Given the description of an element on the screen output the (x, y) to click on. 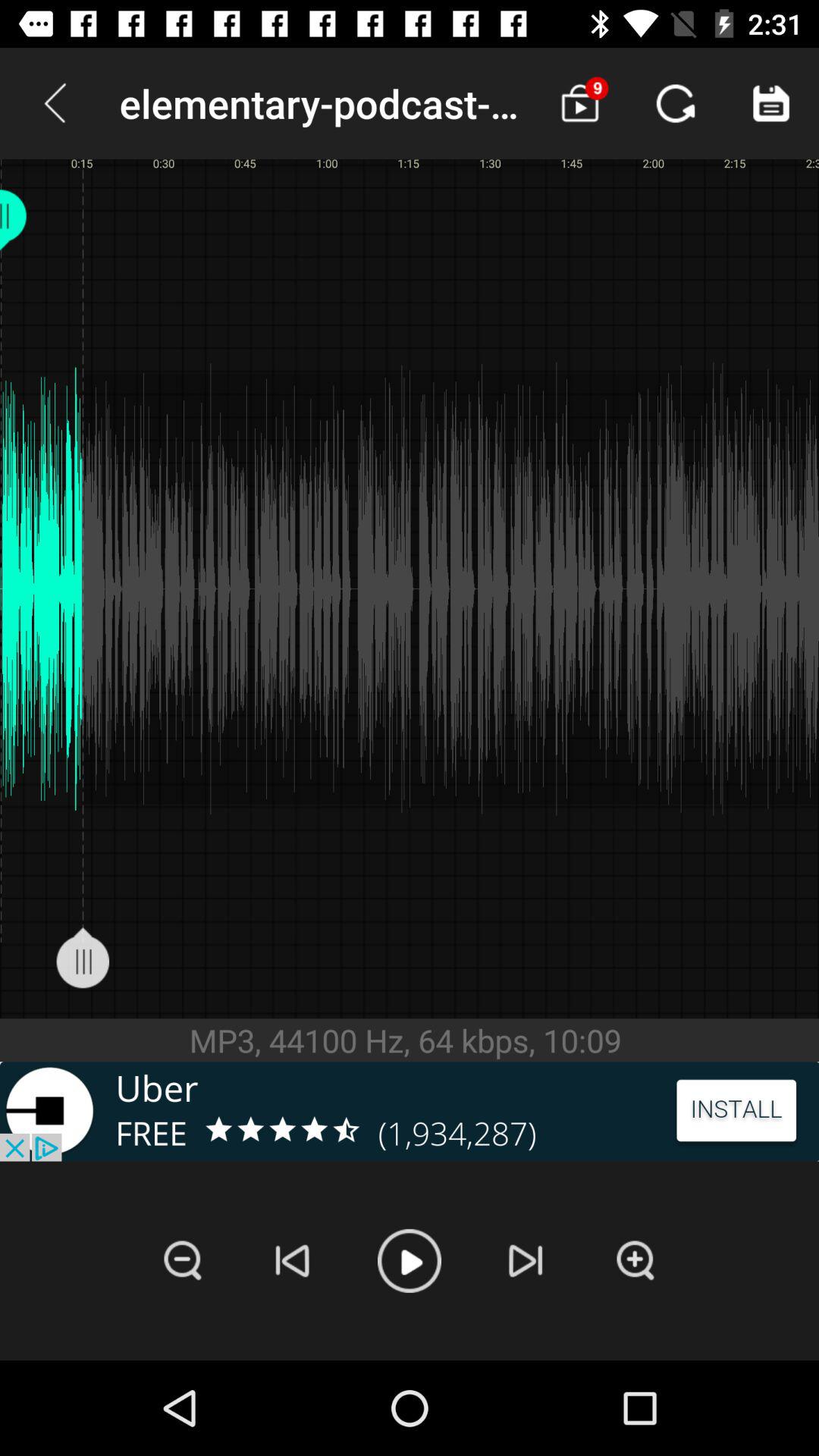
play audio (409, 1260)
